Given the description of an element on the screen output the (x, y) to click on. 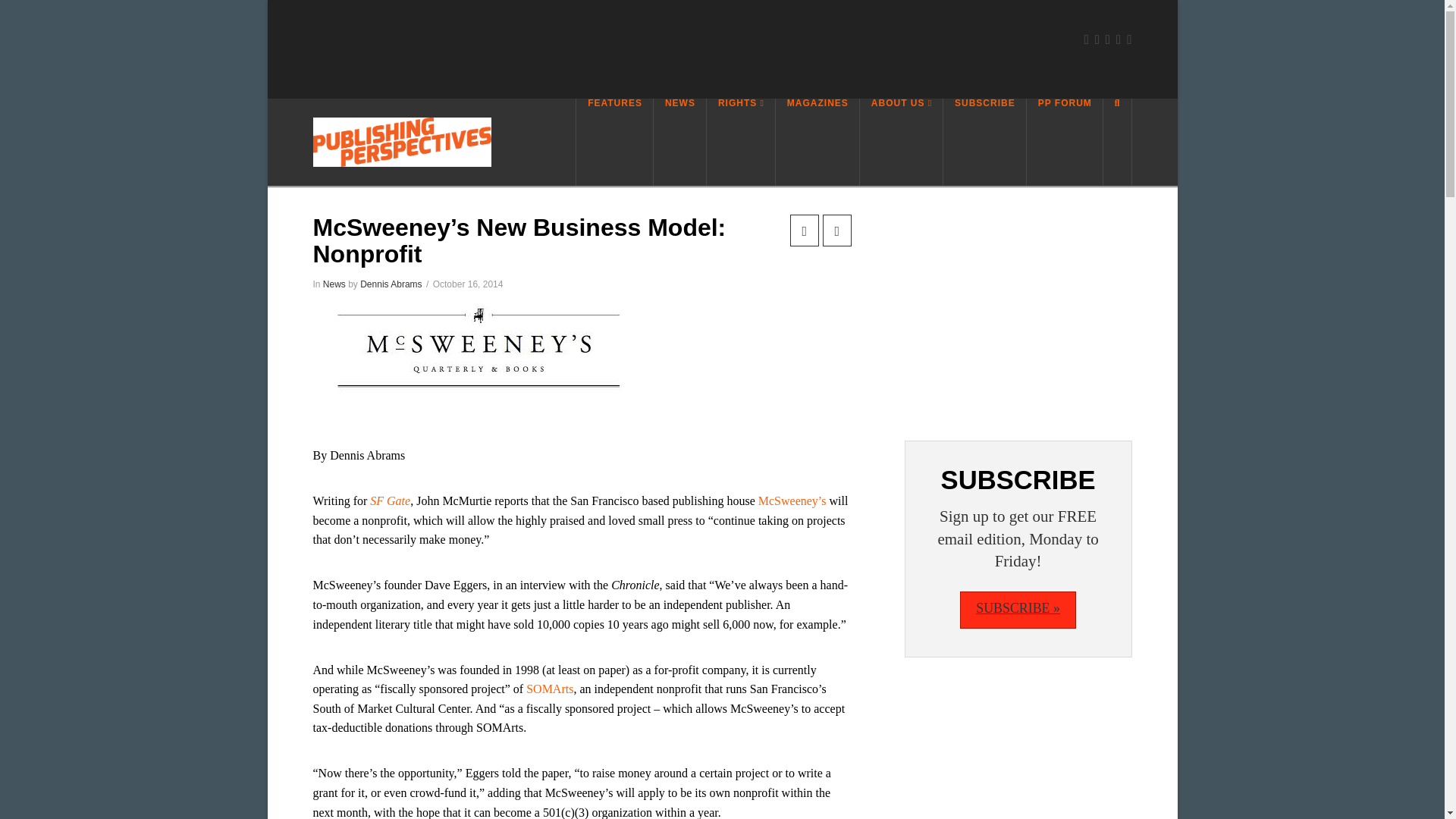
SUBSCRIBE (984, 141)
SF Gate (389, 500)
News (334, 284)
FEATURES (614, 141)
ABOUT US (901, 141)
Dennis Abrams (390, 284)
SOMArts (549, 688)
MAGAZINES (818, 141)
